Given the description of an element on the screen output the (x, y) to click on. 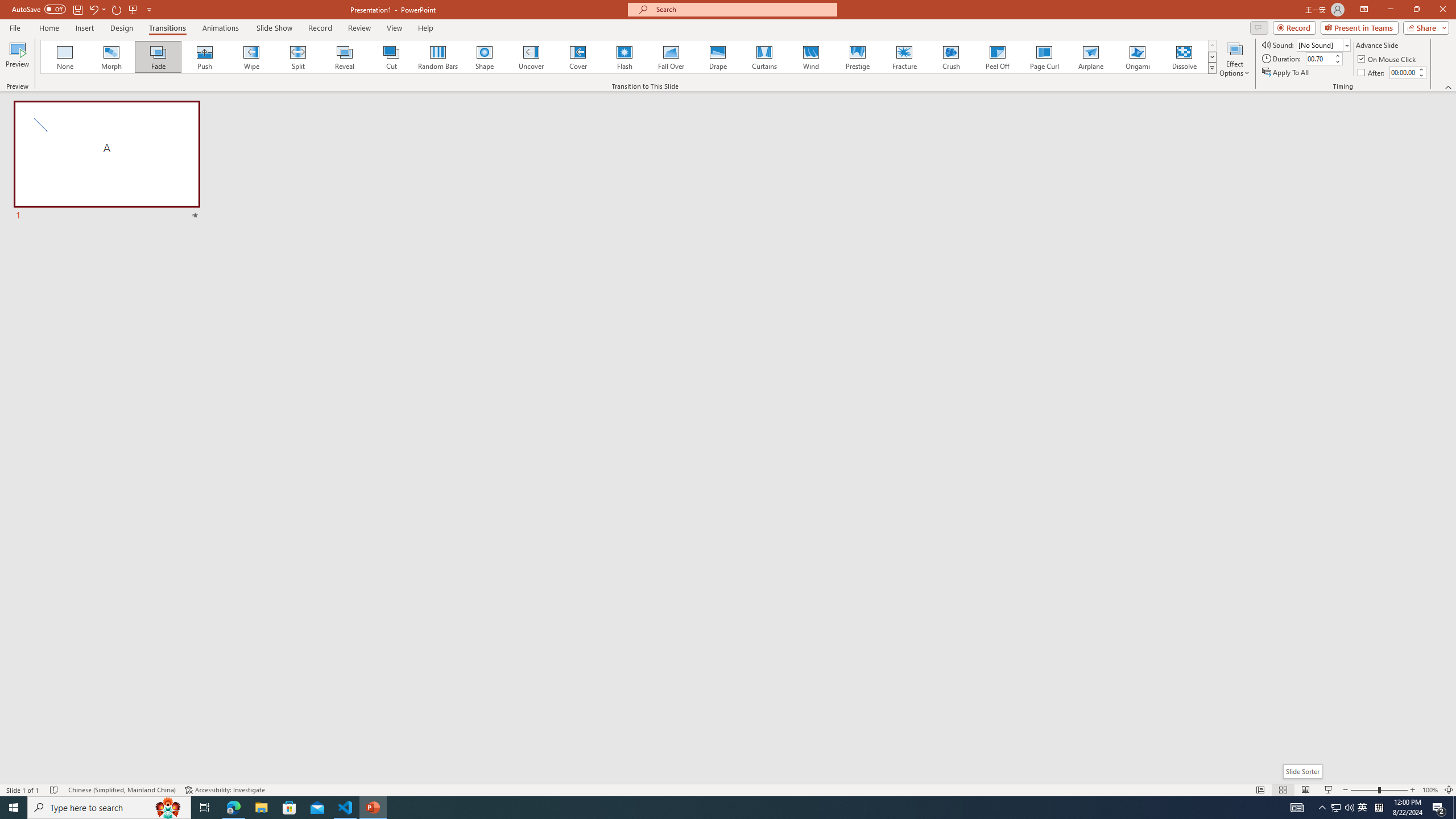
Dissolve (1183, 56)
Reveal (344, 56)
Apply To All (1286, 72)
Cover (577, 56)
Prestige (857, 56)
AutomationID: AnimationTransitionGallery (628, 56)
